Given the description of an element on the screen output the (x, y) to click on. 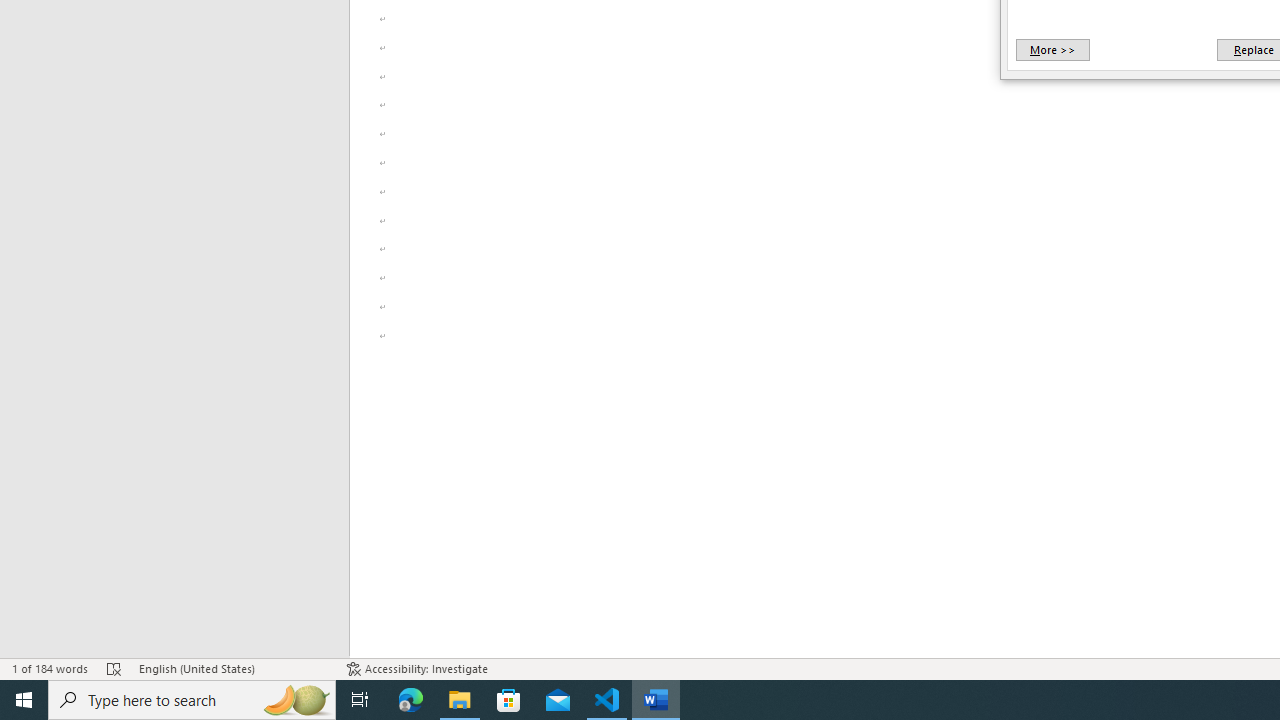
Language English (United States) (232, 668)
Accessibility Checker Accessibility: Investigate (417, 668)
Spelling and Grammar Check Errors (114, 668)
